Given the description of an element on the screen output the (x, y) to click on. 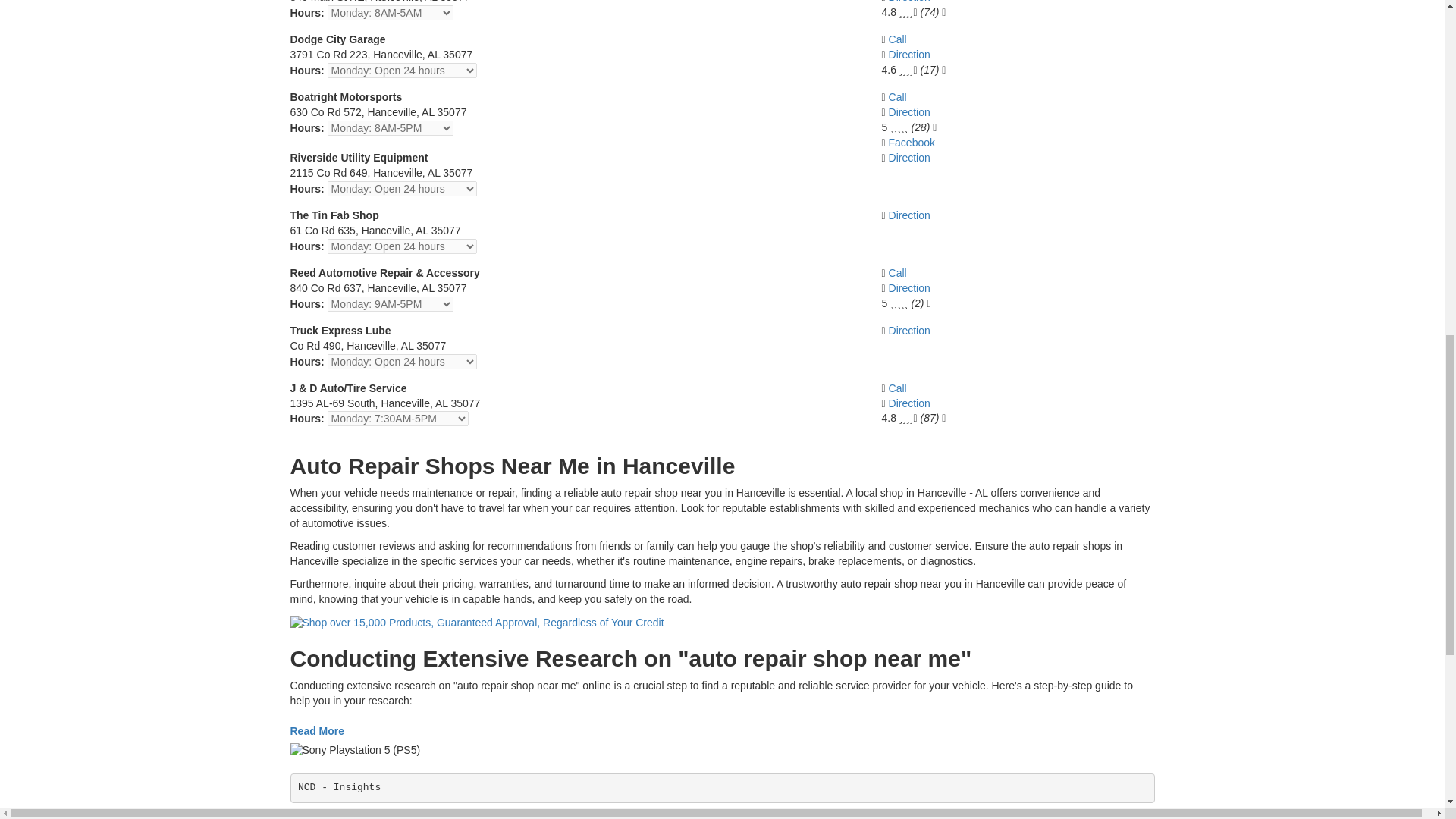
Direction (909, 157)
Direction (909, 1)
Read More (316, 731)
Direction (909, 215)
Call (897, 39)
Call (897, 96)
Direction (909, 287)
Call (897, 387)
Facebook (911, 142)
Direction (909, 54)
Call (897, 272)
